Given the description of an element on the screen output the (x, y) to click on. 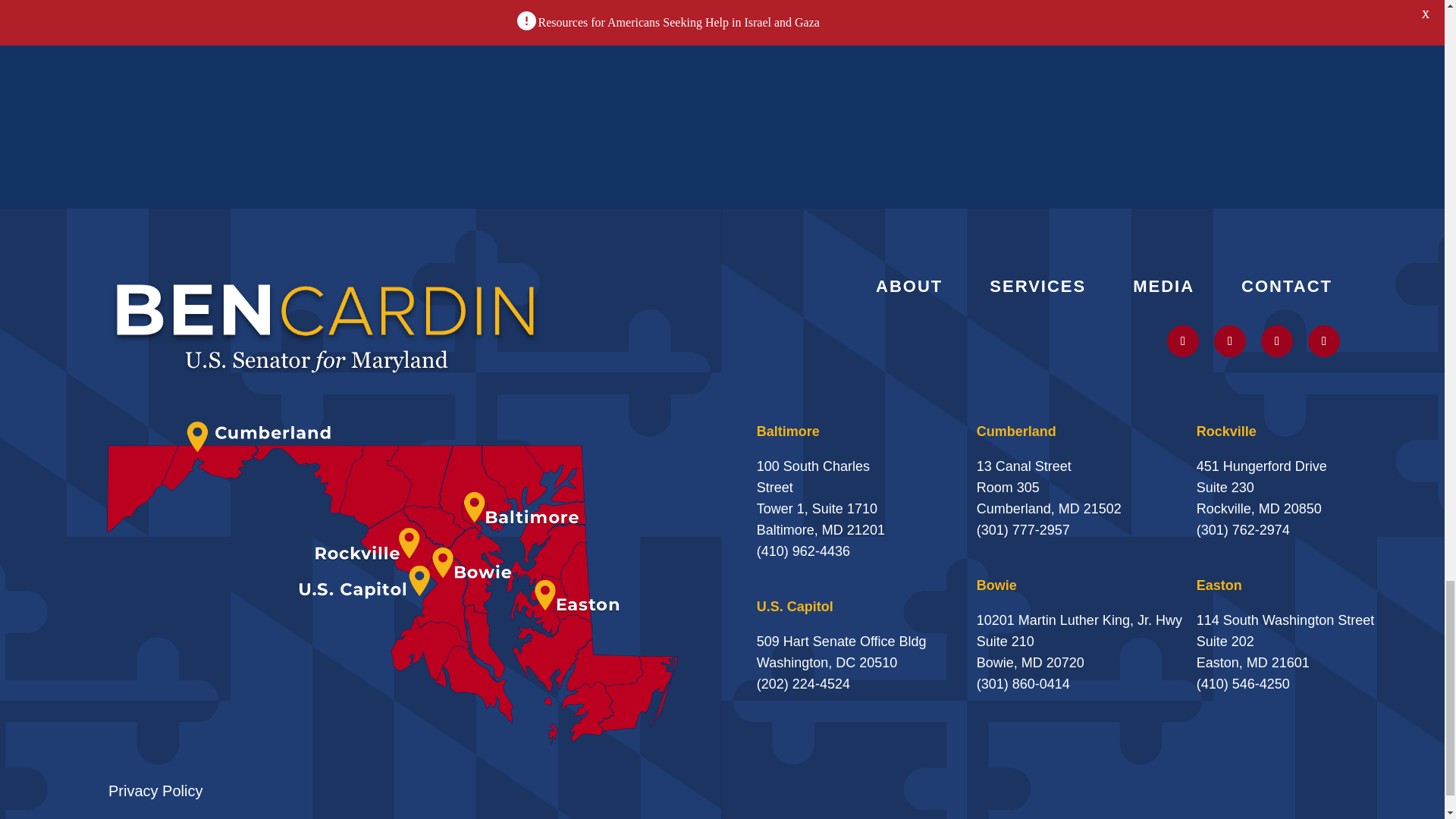
Privacy Policy (154, 790)
Follow on X (1182, 341)
Follow on Facebook (1323, 341)
Footer (326, 325)
Follow on Youtube (1276, 341)
Follow on Instagram (1230, 341)
